Given the description of an element on the screen output the (x, y) to click on. 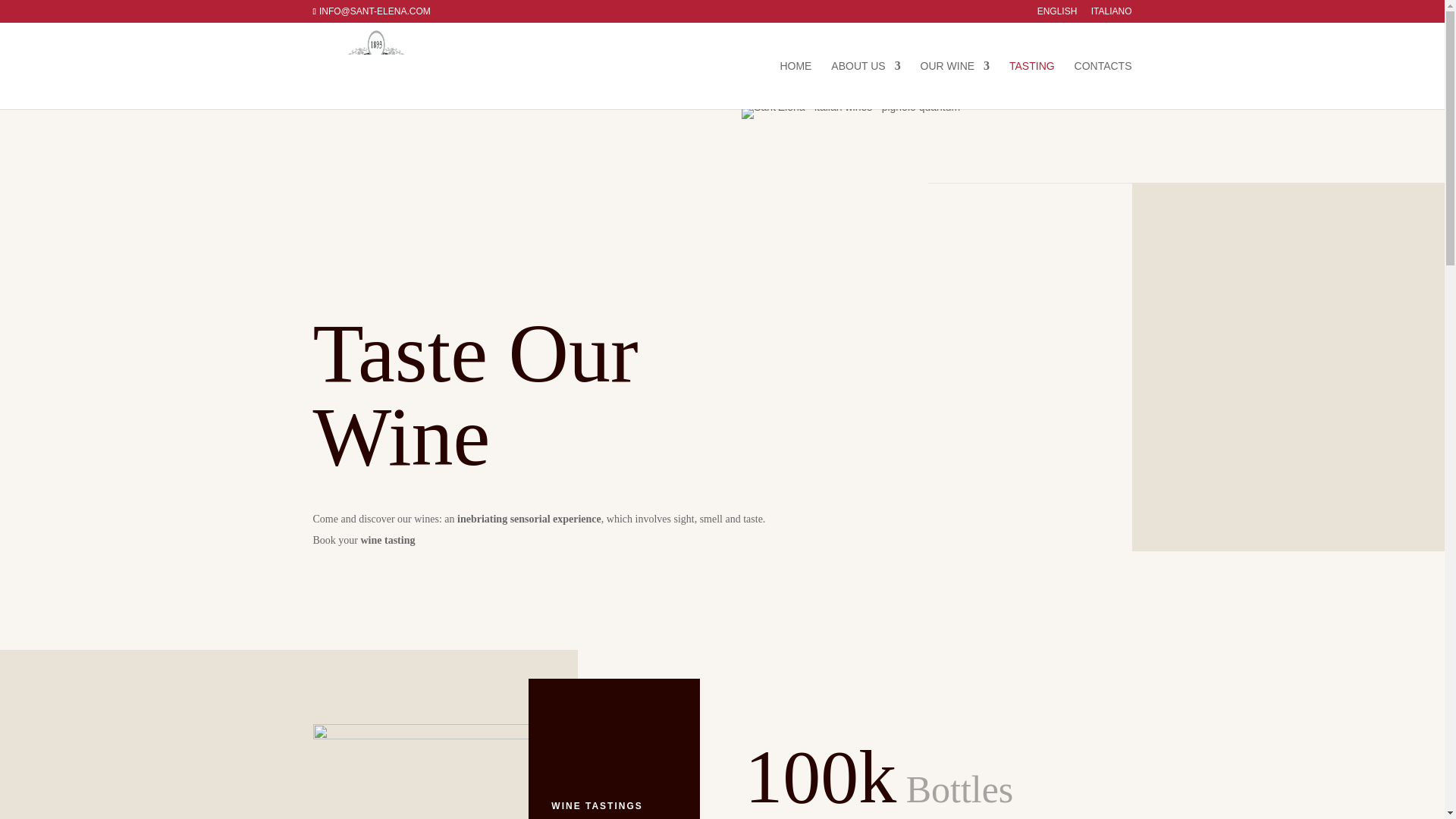
ENGLISH (1056, 14)
TASTING (1031, 84)
OUR WINE (955, 84)
ABOUT US (865, 84)
ITALIANO (1111, 14)
CONTACTS (1103, 84)
Sant'Elena - italian wines - pignolo quantum (850, 112)
